Given the description of an element on the screen output the (x, y) to click on. 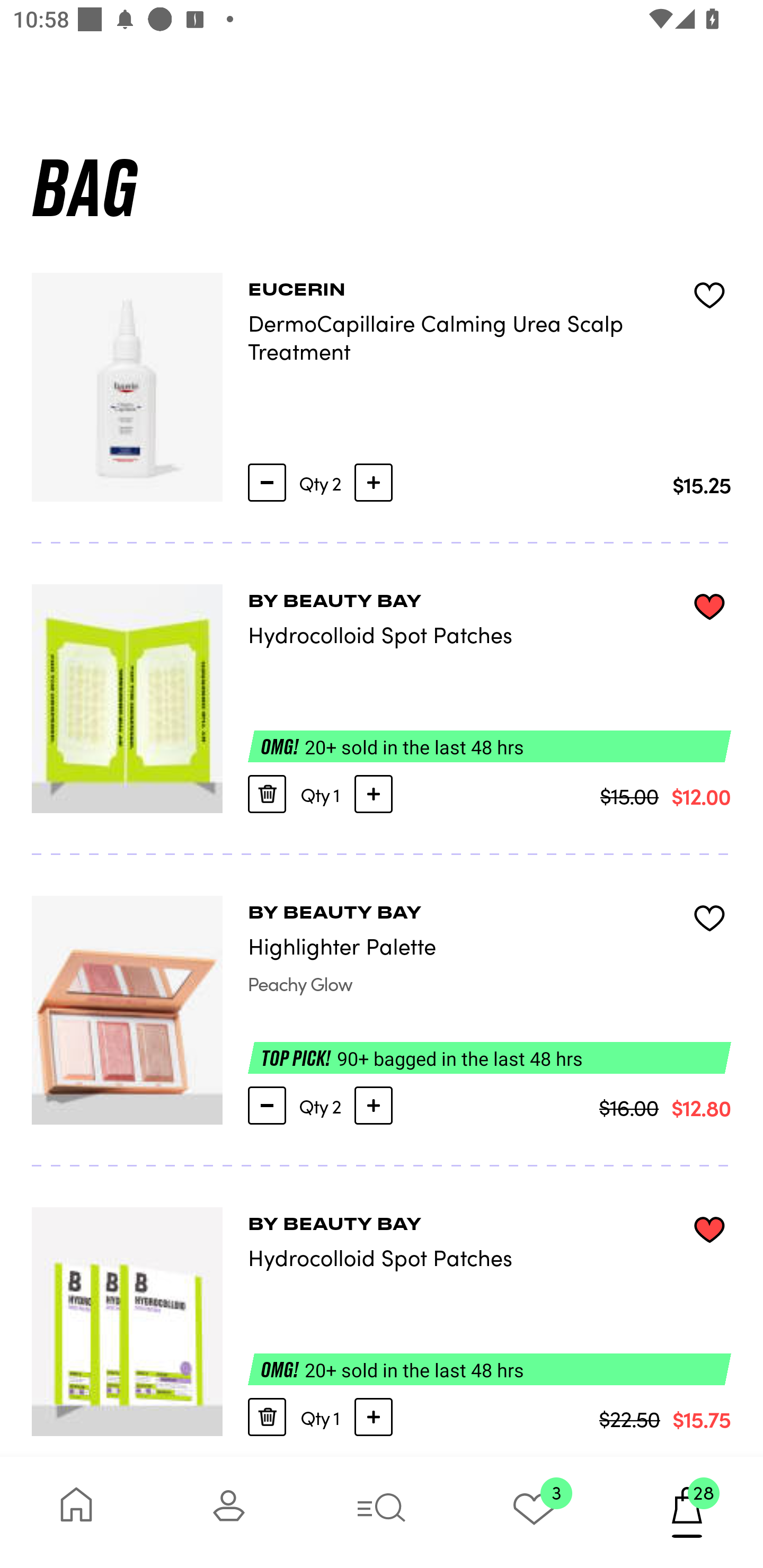
3 (533, 1512)
28 (686, 1512)
